Given the description of an element on the screen output the (x, y) to click on. 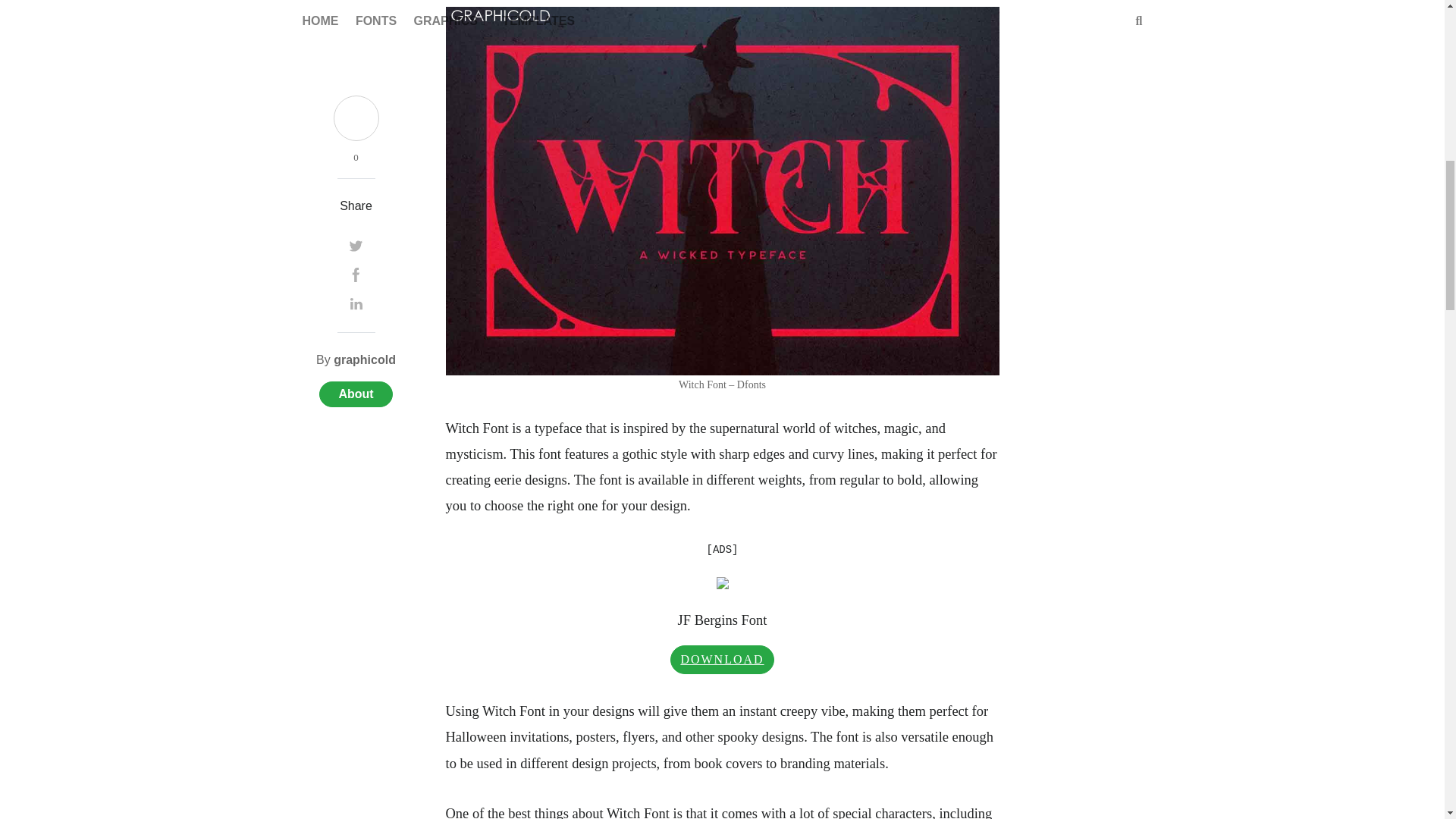
DOWNLOAD (721, 658)
